Given the description of an element on the screen output the (x, y) to click on. 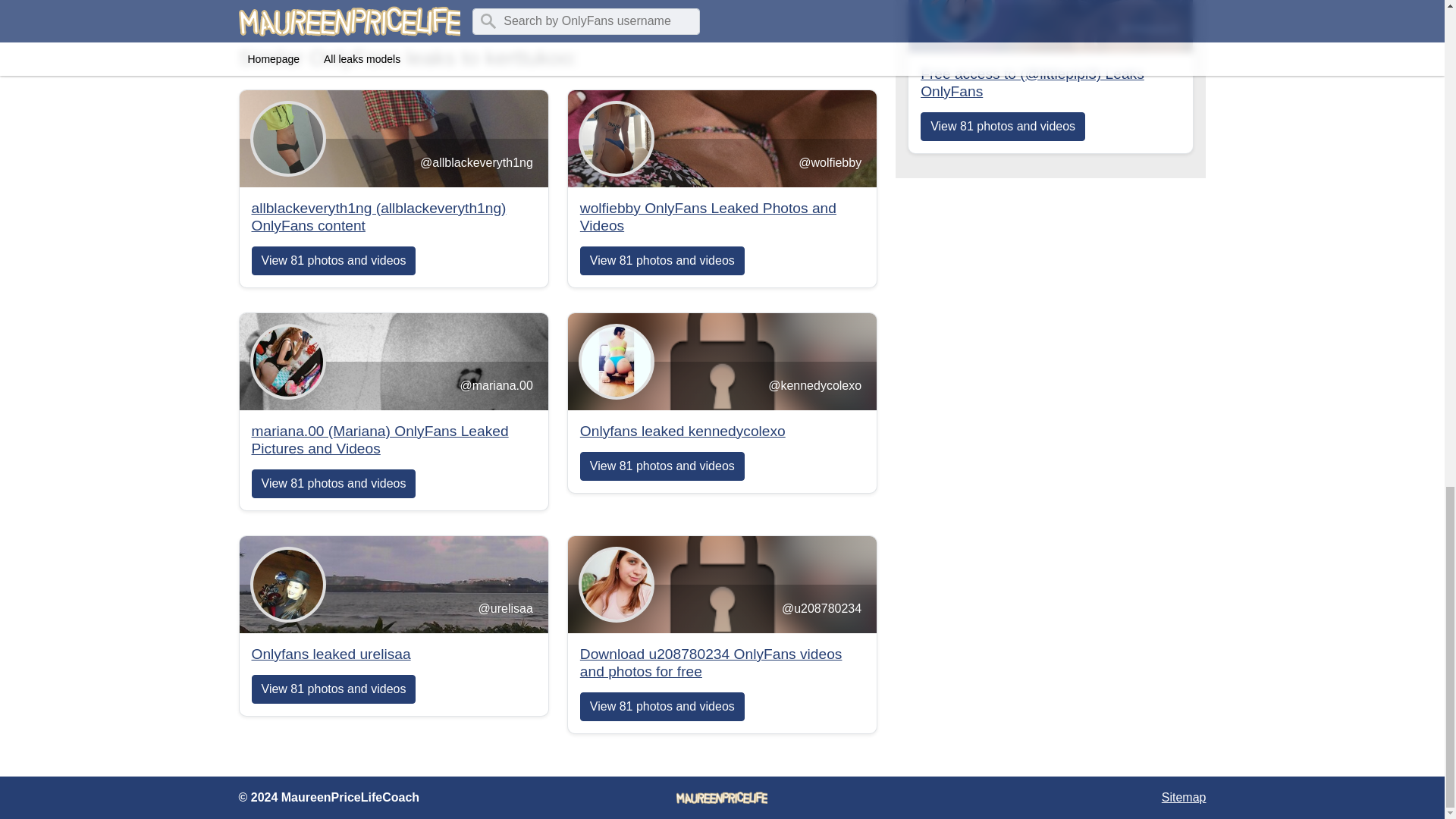
Sitemap (1184, 797)
